Given the description of an element on the screen output the (x, y) to click on. 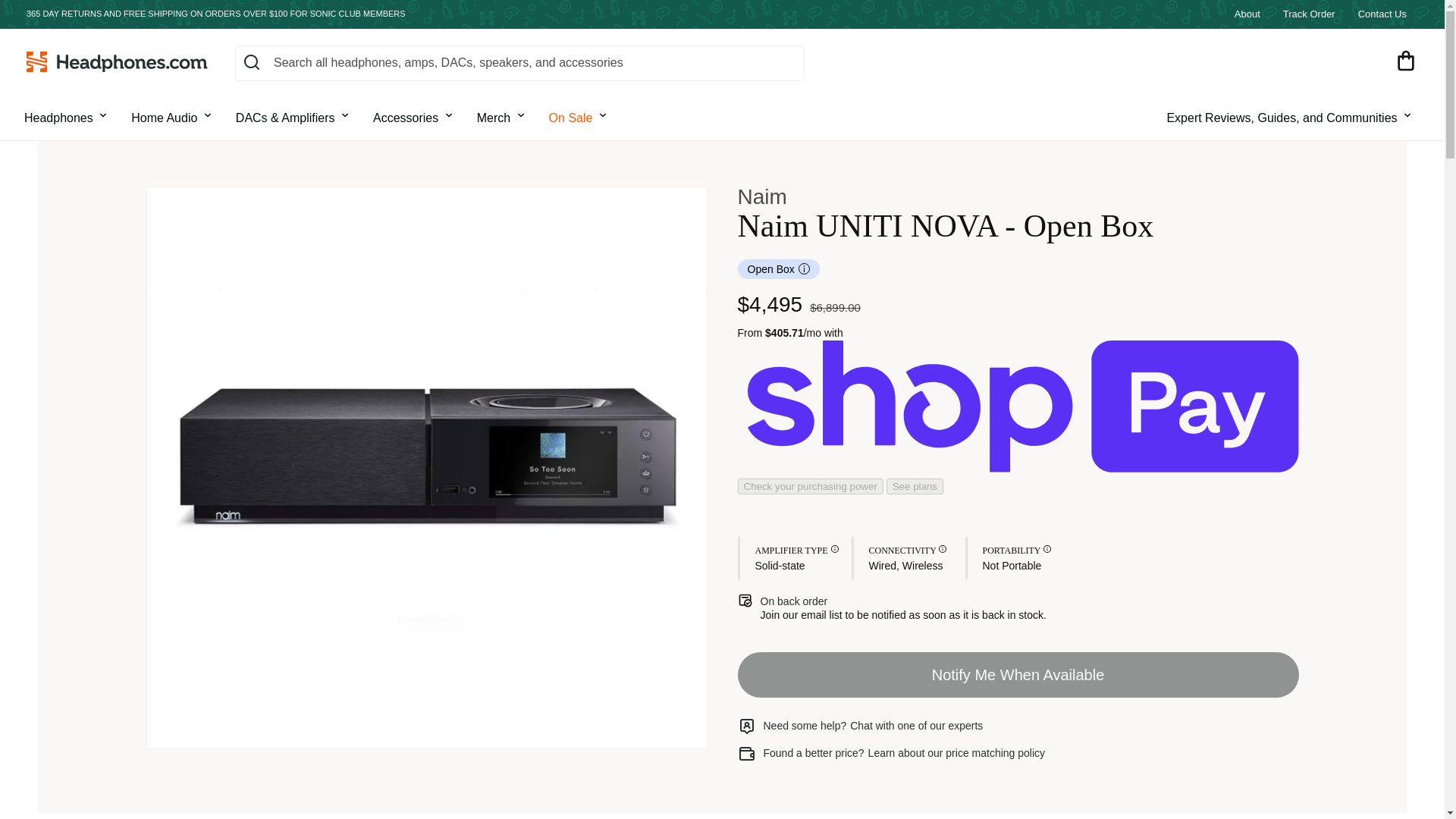
Contact Us (1382, 14)
About (1247, 14)
Skip to content (45, 16)
Track Order (1308, 14)
